Given the description of an element on the screen output the (x, y) to click on. 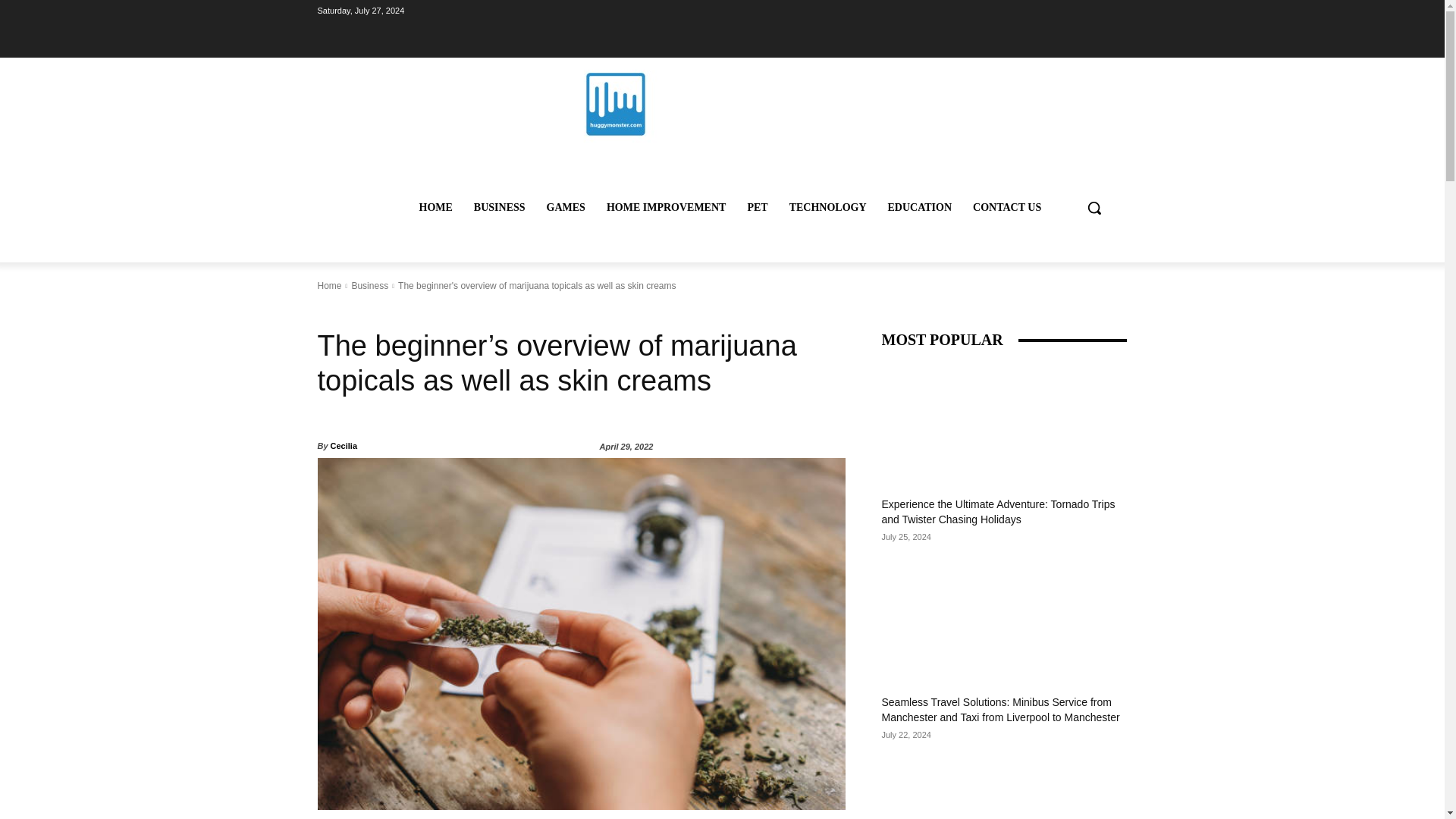
Cecilia (343, 445)
GAMES (565, 207)
CONTACT US (1006, 207)
BUSINESS (499, 207)
PET (756, 207)
HOME IMPROVEMENT (665, 207)
TECHNOLOGY (827, 207)
EDUCATION (919, 207)
Business (369, 285)
Home (328, 285)
HOME (435, 207)
